Given the description of an element on the screen output the (x, y) to click on. 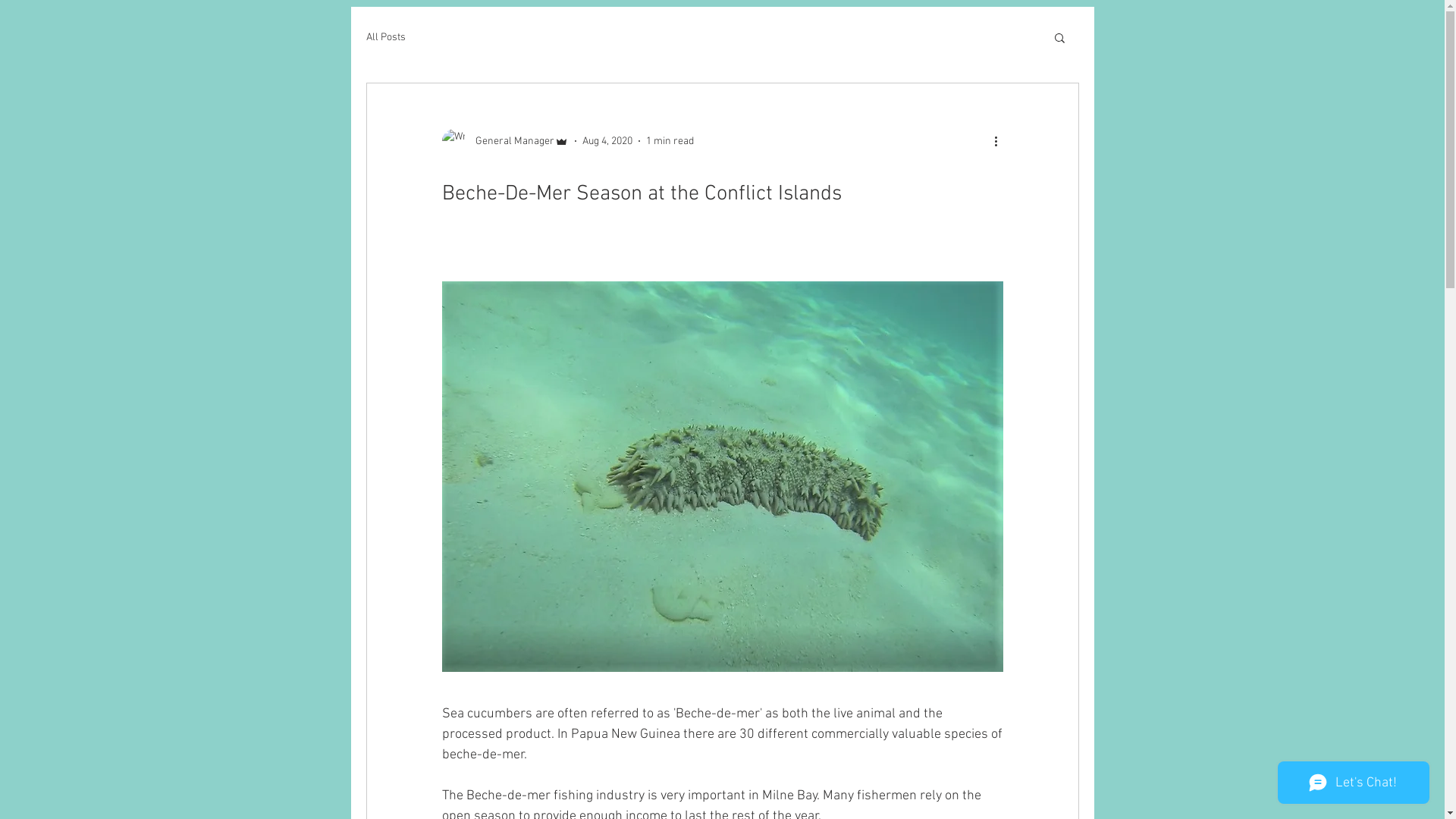
All Posts Element type: text (384, 36)
General Manager Element type: text (504, 140)
